Given the description of an element on the screen output the (x, y) to click on. 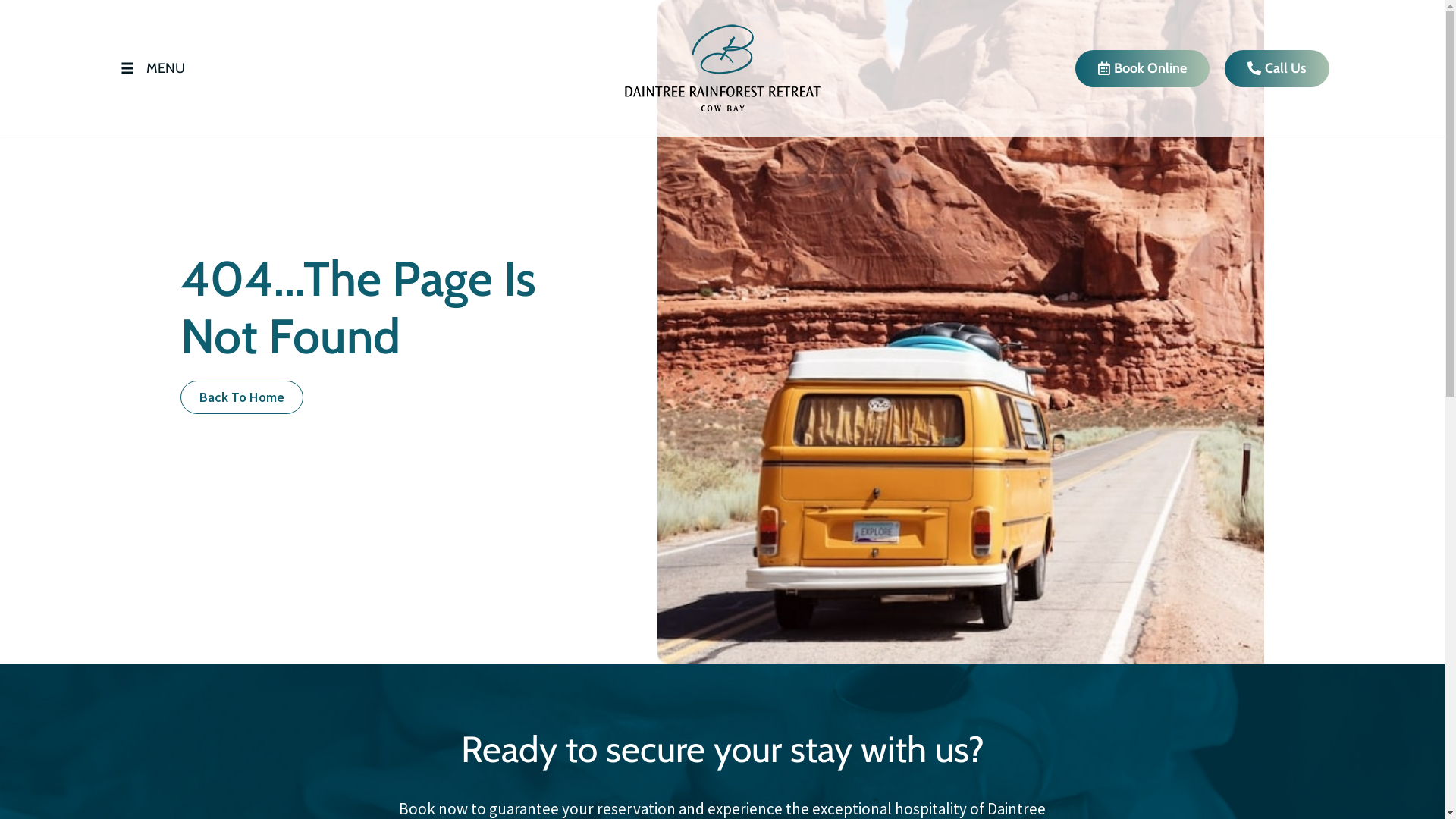
Back To Home Element type: text (241, 397)
Call Us Element type: text (1275, 68)
Book Online Element type: text (1142, 68)
